Given the description of an element on the screen output the (x, y) to click on. 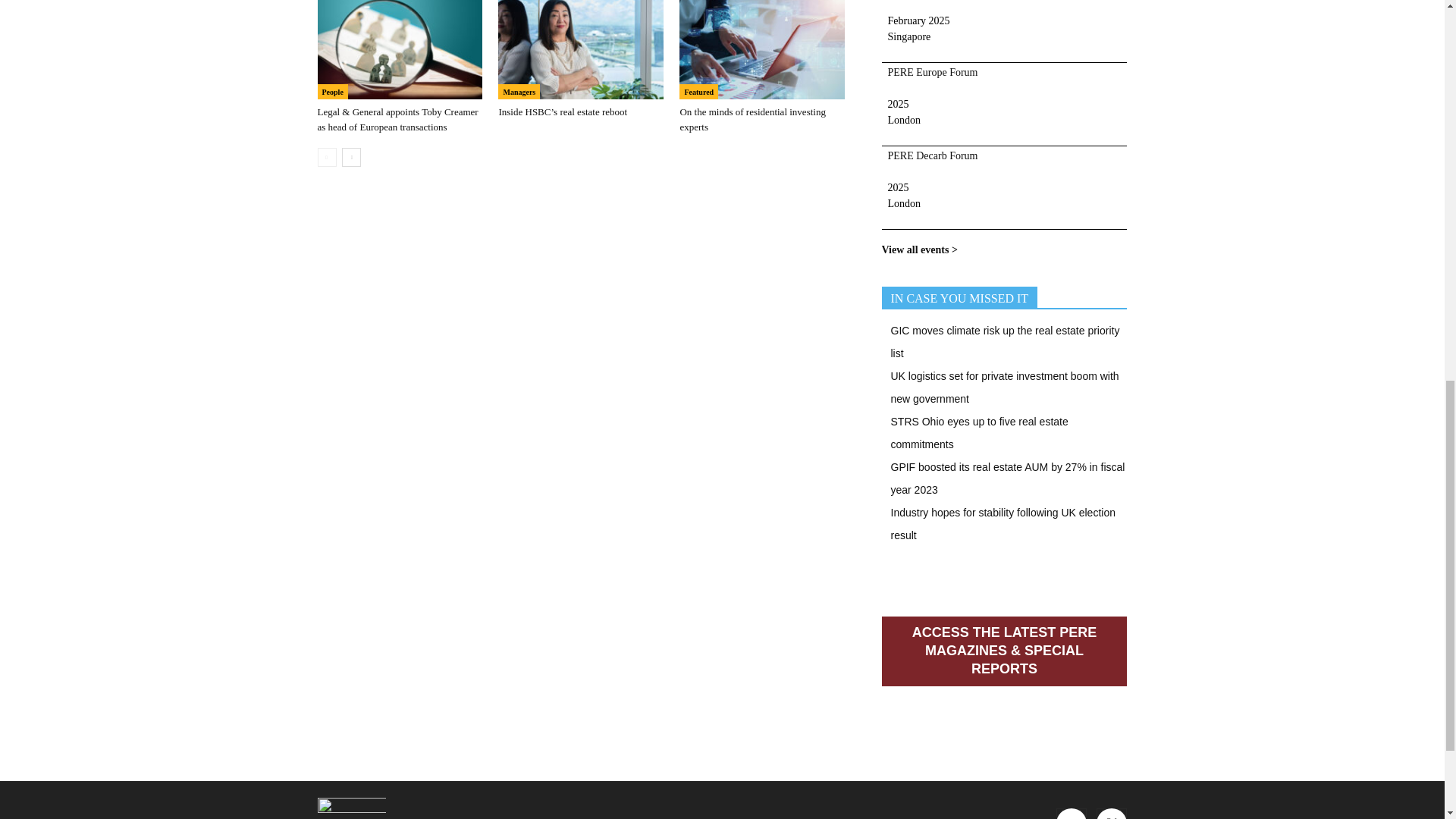
Twitter (1111, 813)
On the minds of residential investing experts (752, 119)
On the minds of residential investing experts (761, 49)
Linkedin (1071, 813)
